Given the description of an element on the screen output the (x, y) to click on. 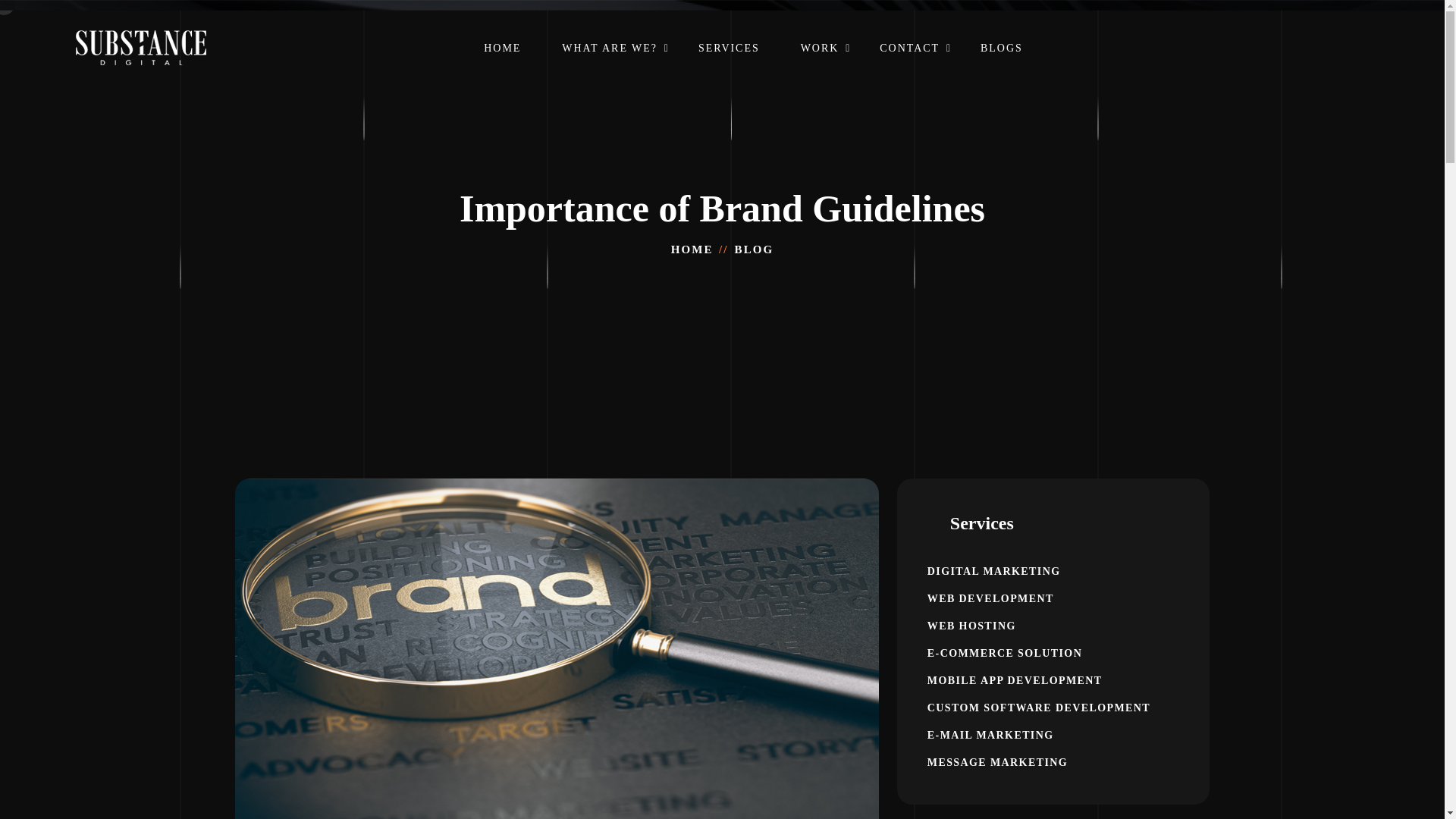
MOBILE APP DEVELOPMENT (1053, 680)
WHAT ARE WE? (610, 63)
WEB HOSTING (1053, 625)
SERVICES (729, 63)
WEB DEVELOPMENT (1053, 598)
BLOGS (1001, 63)
HOME (692, 249)
DIGITAL MARKETING (1053, 571)
CUSTOM SOFTWARE DEVELOPMENT (1053, 707)
CONTACT (909, 63)
